Given the description of an element on the screen output the (x, y) to click on. 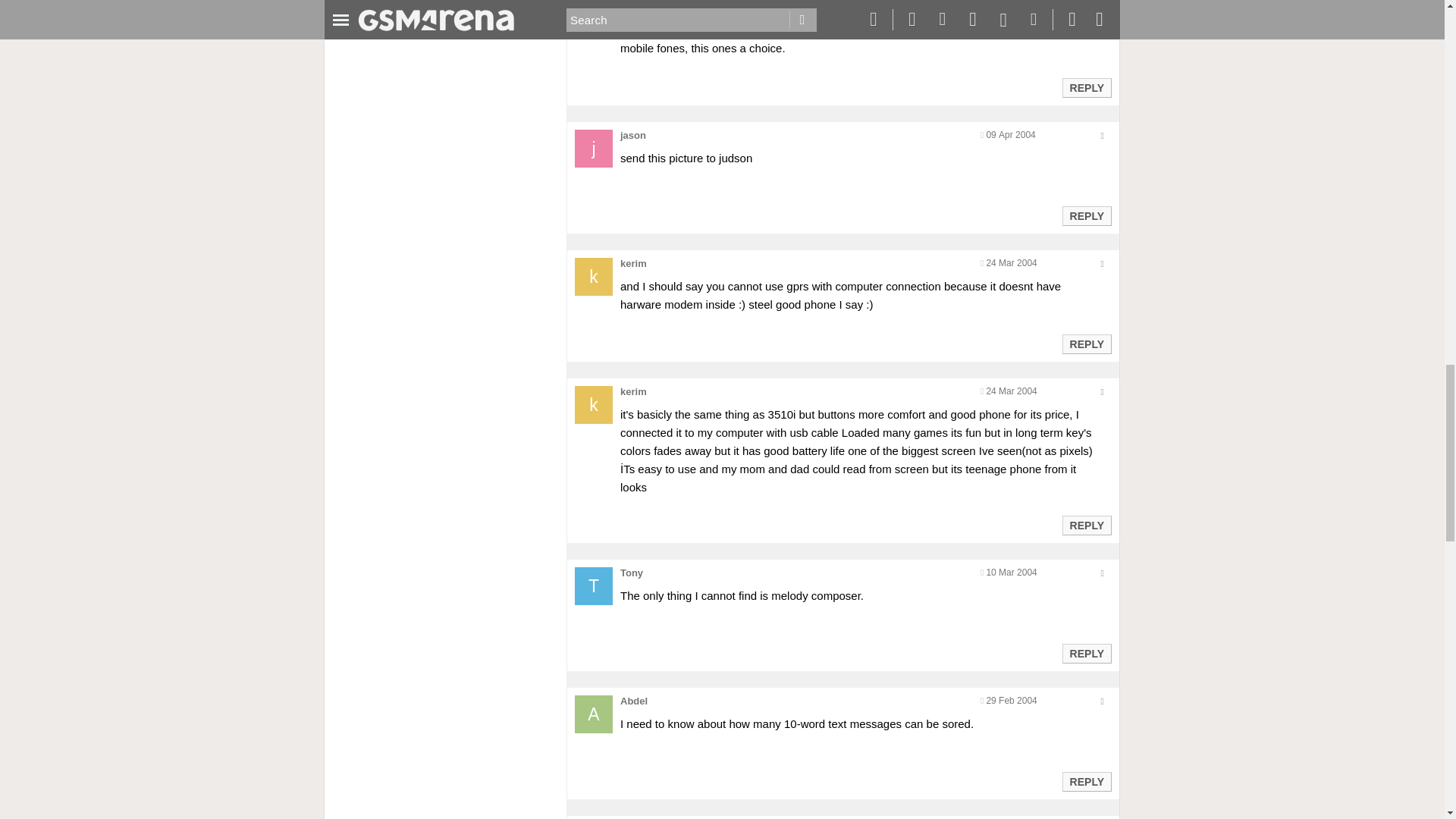
Reply to this post (1086, 87)
Reply to this post (1086, 525)
Reply to this post (1086, 344)
Reply to this post (1086, 215)
Reply to this post (1086, 653)
